Given the description of an element on the screen output the (x, y) to click on. 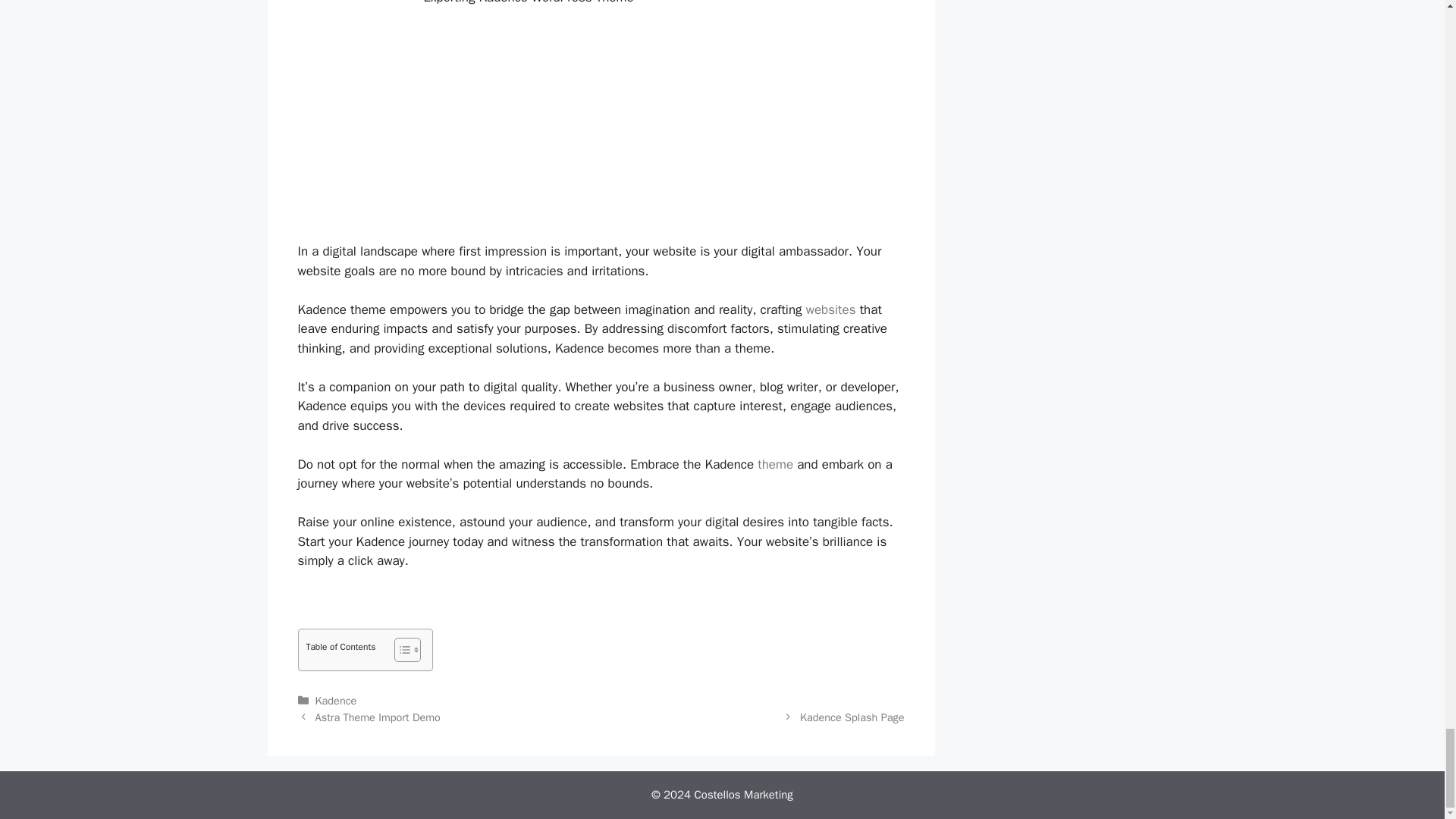
Kadence Splash Page (851, 716)
Astra Theme Import Demo (378, 716)
theme (775, 464)
websites (831, 309)
Kadence (335, 700)
